Given the description of an element on the screen output the (x, y) to click on. 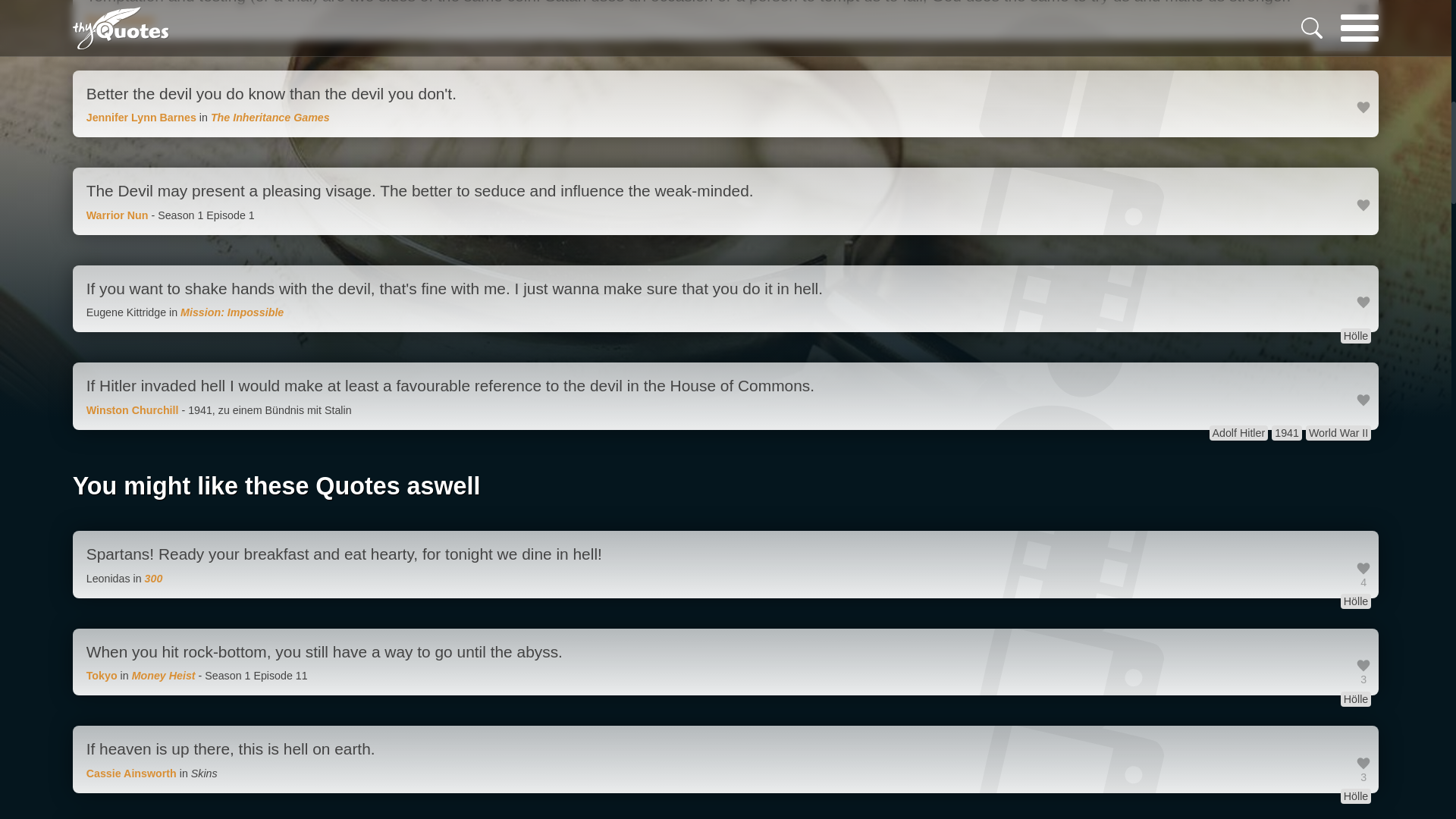
Cassie Ainsworth (130, 773)
Warrior Nun (116, 215)
World War II (1338, 432)
Adolf Hitler (1238, 432)
Tokyo (101, 675)
Mission: Impossible (231, 312)
Money Heist (163, 675)
1941 (1286, 432)
Jennifer Lynn Barnes (140, 117)
The Inheritance Games (270, 117)
